Given the description of an element on the screen output the (x, y) to click on. 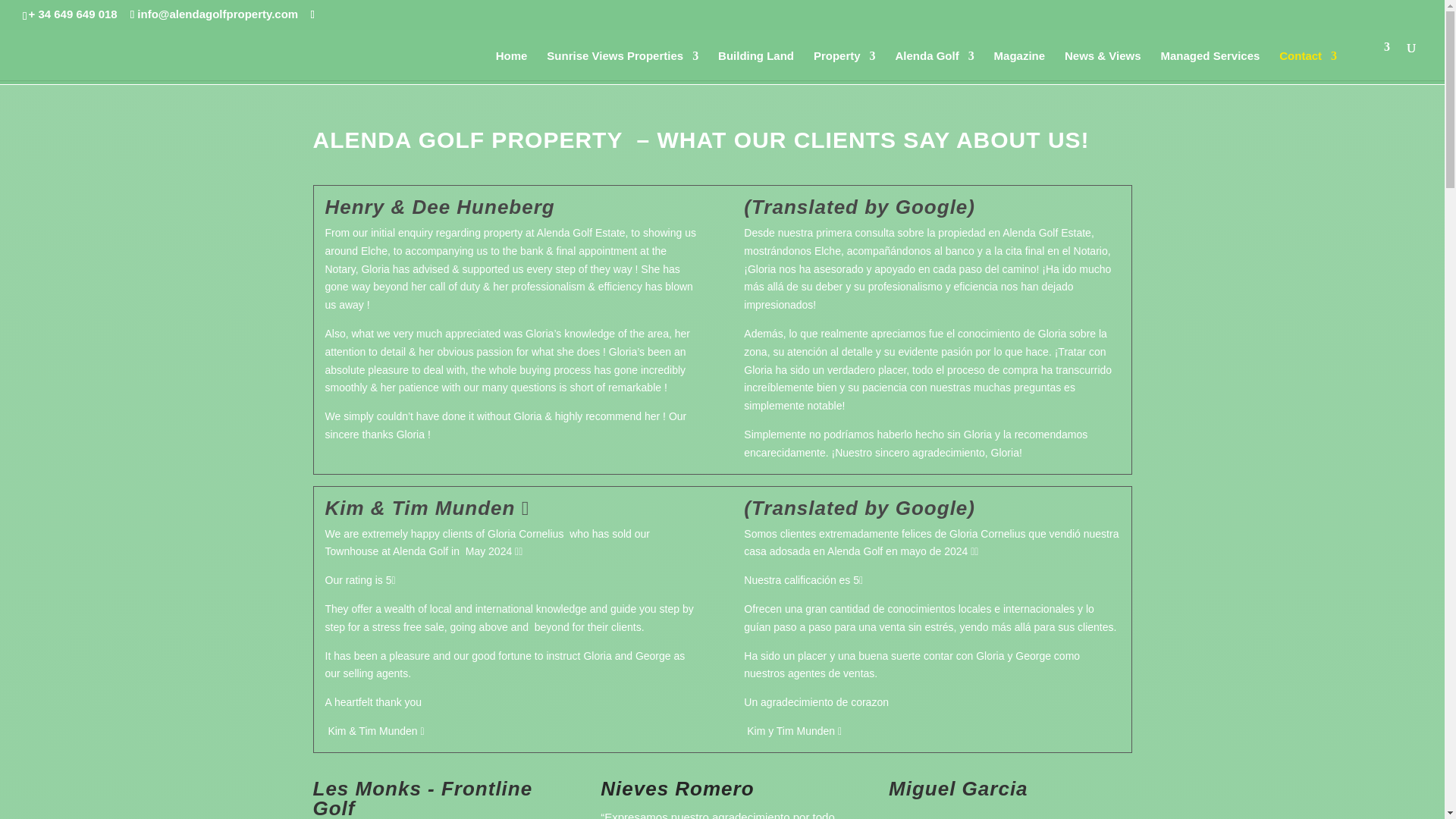
Managed Services (1209, 65)
Magazine (1019, 65)
Alenda Golf (934, 65)
Home (511, 65)
Sunrise Views Properties (622, 65)
Building Land (755, 65)
Property (844, 65)
Contact (1307, 65)
